Given the description of an element on the screen output the (x, y) to click on. 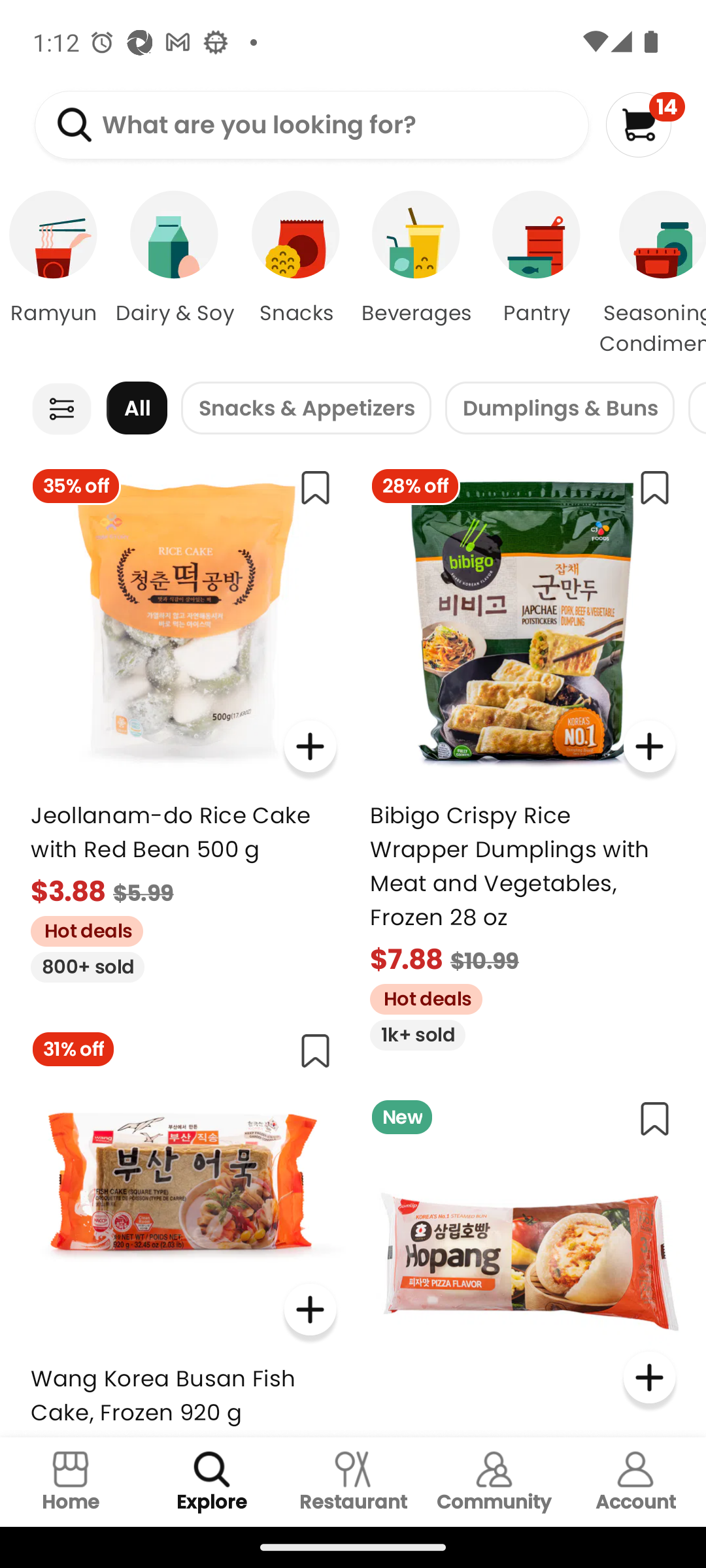
What are you looking for? (311, 124)
14 (644, 124)
Ramyun (56, 274)
Dairy & Soy (174, 274)
Snacks (295, 274)
Beverages (416, 274)
Pantry (536, 274)
Seasonings Condiments (651, 274)
All (136, 407)
Snacks & Appetizers (305, 407)
Dumplings & Buns (559, 407)
Hot deals (79, 929)
Hot deals (419, 996)
New SAMLIP Steamed Bun-Pizza 85-255 g (522, 1261)
Home (70, 1482)
Explore (211, 1482)
Restaurant (352, 1482)
Community (493, 1482)
Account (635, 1482)
